Given the description of an element on the screen output the (x, y) to click on. 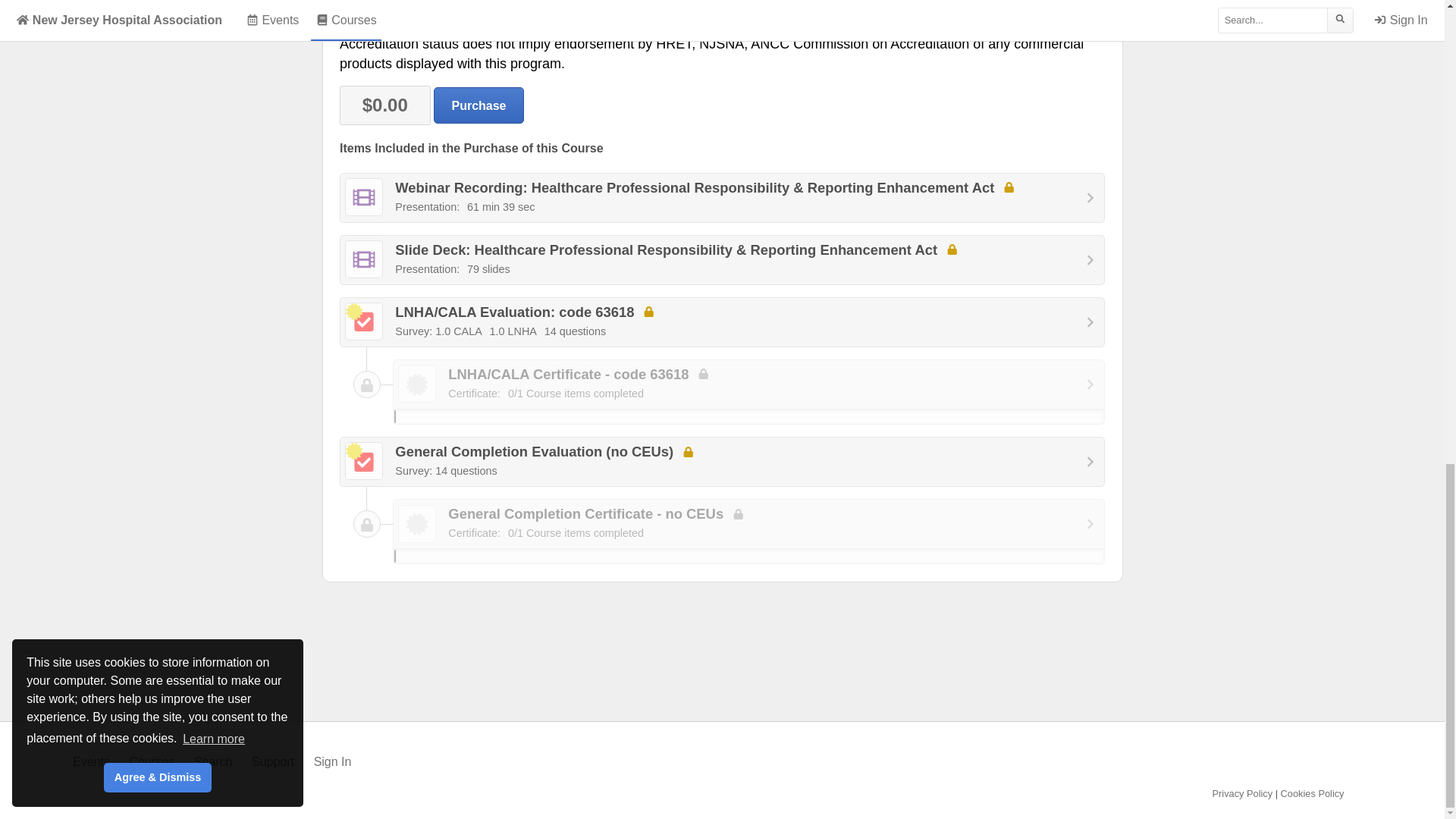
Support (272, 761)
Search (212, 761)
Events (91, 761)
Search (212, 761)
Privacy Policy (1243, 793)
Purchase (478, 104)
Sign In (333, 761)
Cookies Policy (1312, 793)
Courses (151, 761)
Courses (151, 761)
Events (91, 761)
Support (272, 761)
